Given the description of an element on the screen output the (x, y) to click on. 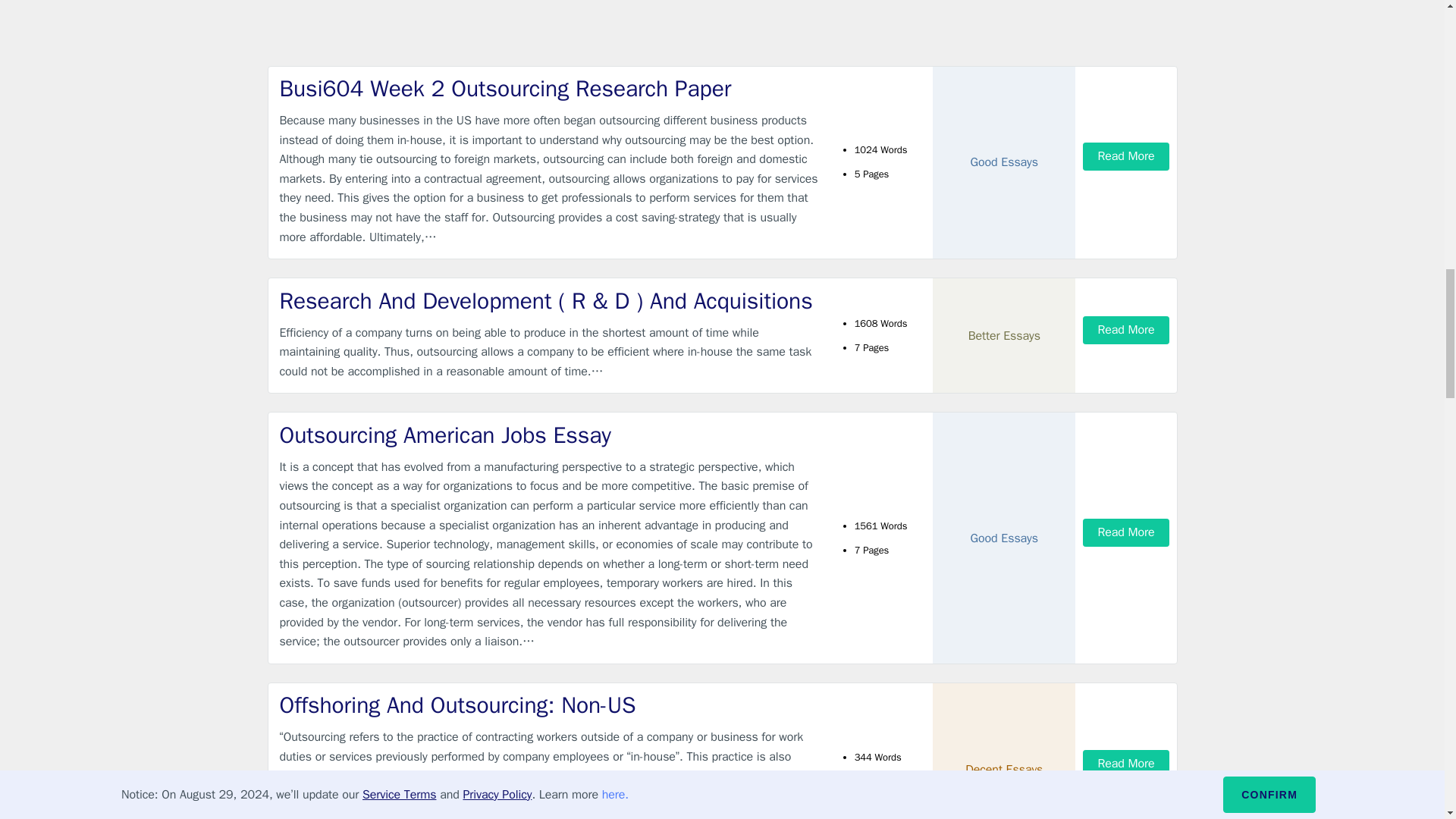
Read More (1126, 532)
Outsourcing American Jobs Essay (548, 435)
Read More (1126, 764)
Busi604 Week 2 Outsourcing Research Paper (548, 88)
Offshoring And Outsourcing: Non-US (548, 705)
Read More (1126, 329)
Read More (1126, 156)
